Given the description of an element on the screen output the (x, y) to click on. 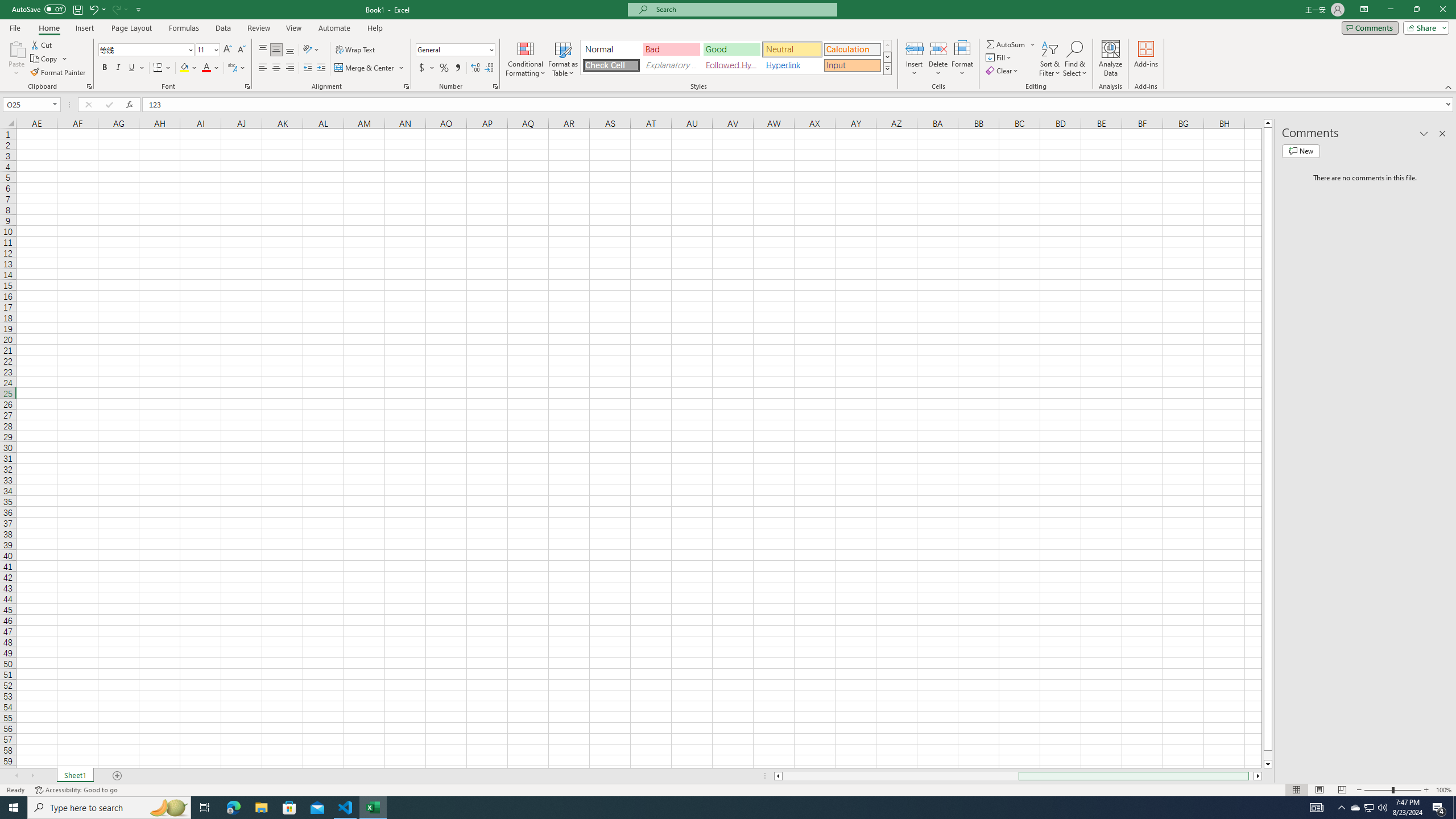
Merge & Center (365, 67)
Font Size (207, 49)
Center (276, 67)
Input (852, 65)
Class: MsoCommandBar (728, 45)
Row Down (887, 56)
Followed Hyperlink (731, 65)
Calculation (852, 49)
Check Cell (611, 65)
Insert Cells (914, 48)
Decrease Font Size (240, 49)
